Given the description of an element on the screen output the (x, y) to click on. 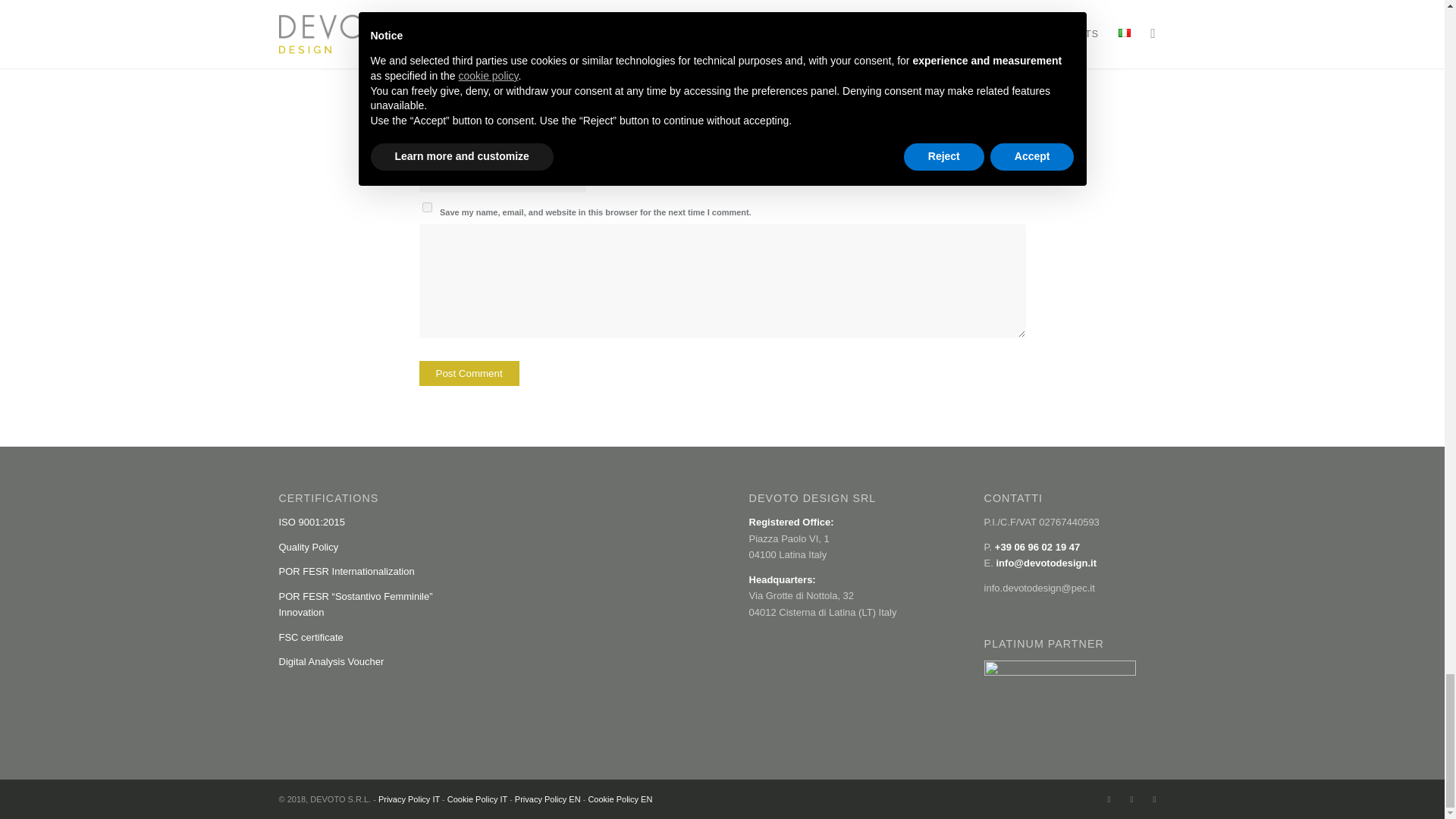
Post Comment (468, 373)
Post Comment (468, 373)
yes (426, 207)
Facebook (1109, 798)
LinkedIn (1154, 798)
Quality Policy (309, 546)
POR FESR Internationalization (346, 571)
ISO 9001:2015 (312, 521)
FSC certificate (311, 636)
Digital Analysis Voucher (331, 661)
Instagram (1131, 798)
